Given the description of an element on the screen output the (x, y) to click on. 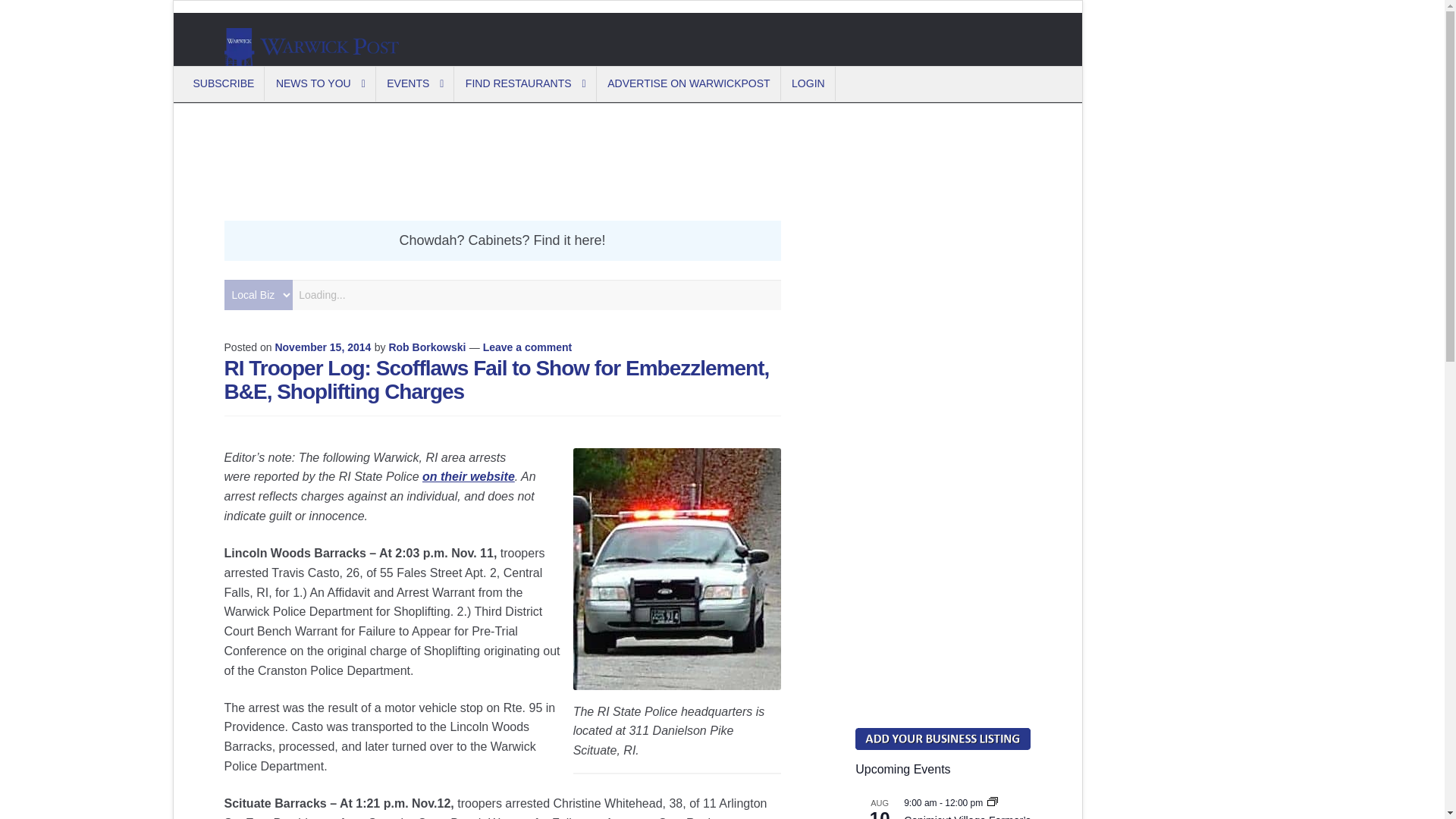
Event Series (992, 802)
EVENTS (415, 83)
SUBSCRIBE (223, 83)
NEWS TO YOU (321, 83)
FIND RESTAURANTS (526, 83)
